Given the description of an element on the screen output the (x, y) to click on. 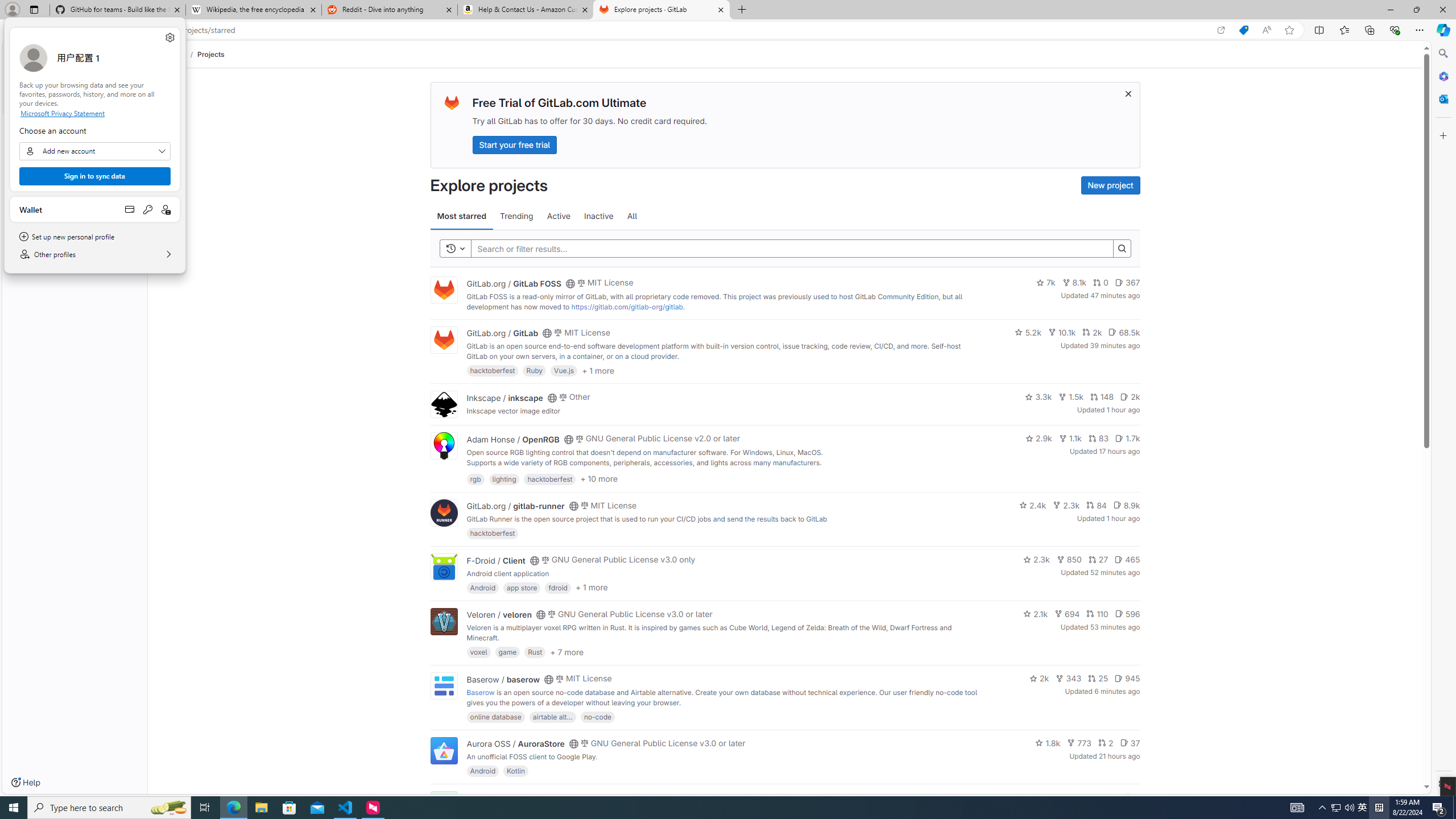
lighting (504, 478)
2.1k (1035, 613)
Open payment methods (129, 208)
Vue.js (563, 370)
Other profiles (94, 253)
Active (559, 216)
3.3k (1038, 396)
Sign in to sync data (94, 176)
5.2k (1027, 331)
850 (1068, 559)
